Given the description of an element on the screen output the (x, y) to click on. 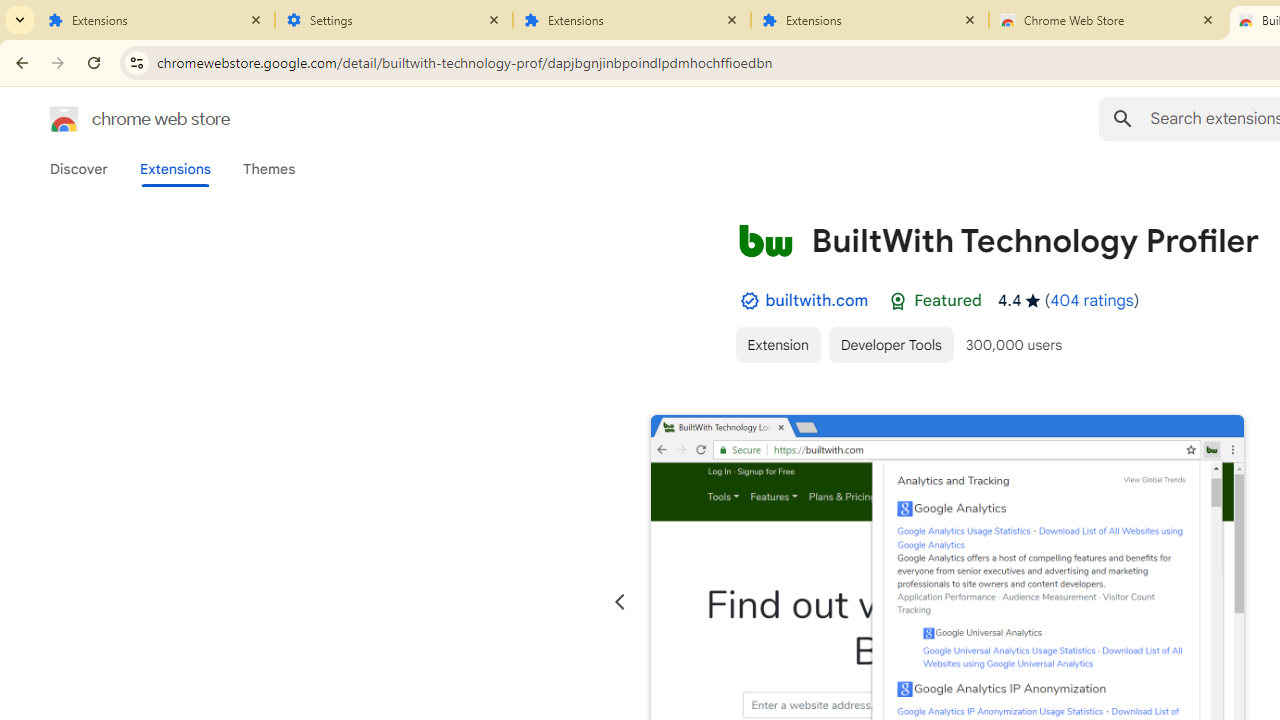
Discover (79, 169)
Chrome Web Store logo chrome web store (118, 118)
Extension (777, 344)
Themes (269, 169)
Extensions (632, 20)
Settings (394, 20)
By Established Publisher Badge (749, 301)
